Given the description of an element on the screen output the (x, y) to click on. 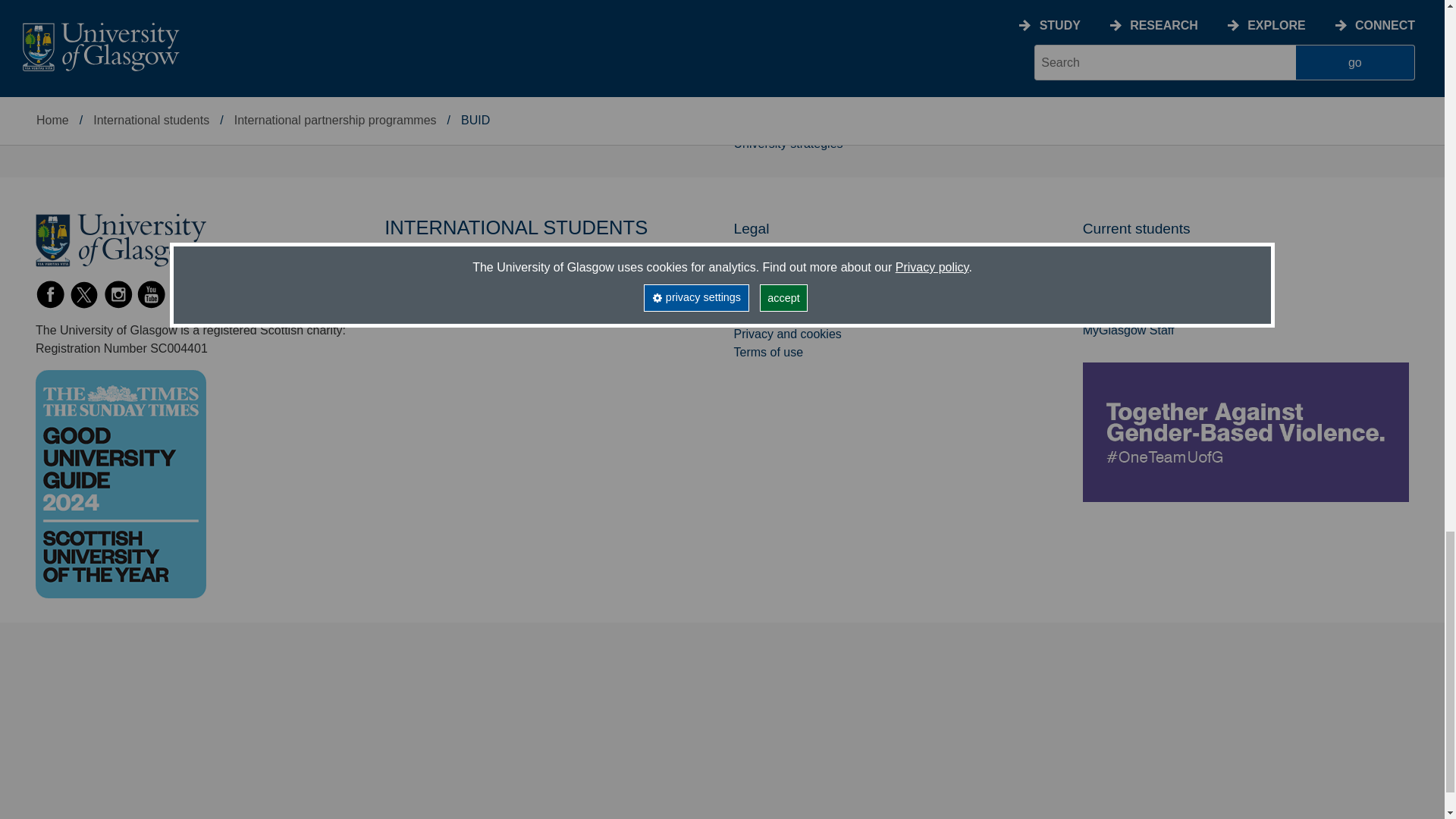
Short courses (72, 15)
Online study (68, 2)
International students (92, 33)
